Given the description of an element on the screen output the (x, y) to click on. 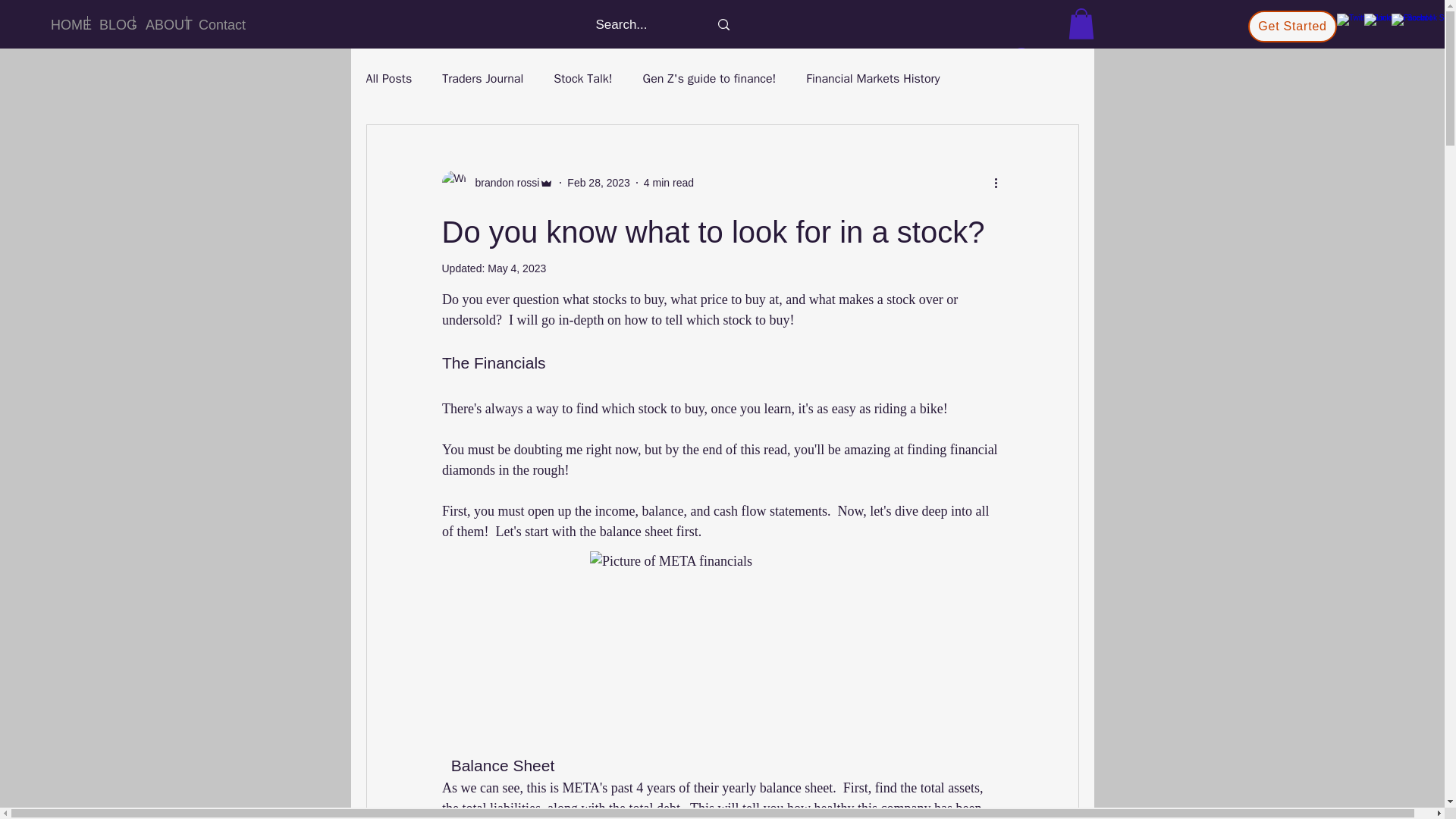
Stock Talk! (582, 78)
ABOUT (159, 22)
Get Started (1291, 26)
Feb 28, 2023 (598, 182)
Gen Z's guide to finance! (709, 78)
All Posts (388, 78)
brandon rossi (497, 182)
May 4, 2023 (516, 268)
Contact (215, 22)
brandon rossi (501, 182)
